Given the description of an element on the screen output the (x, y) to click on. 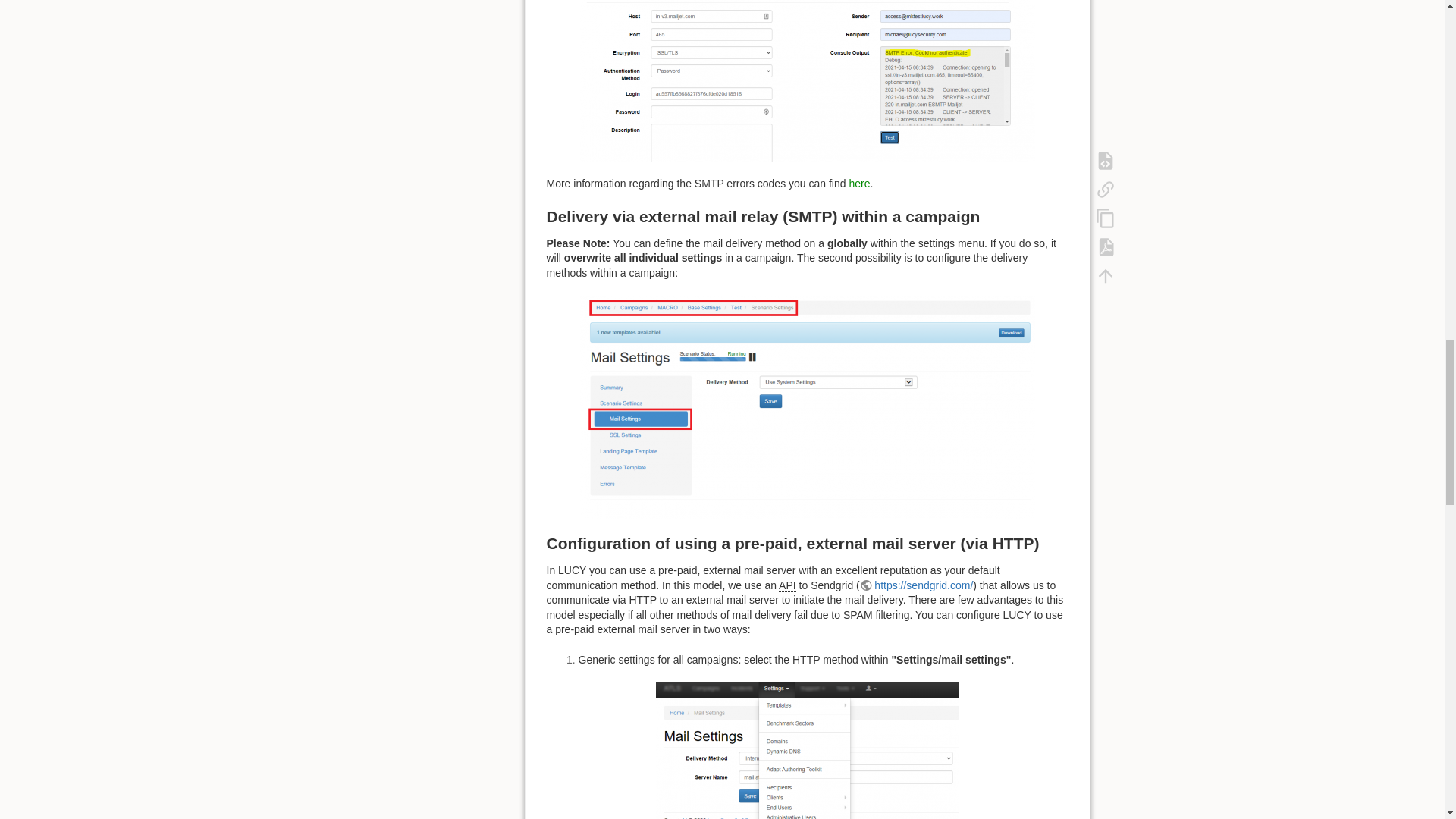
here (858, 183)
